Given the description of an element on the screen output the (x, y) to click on. 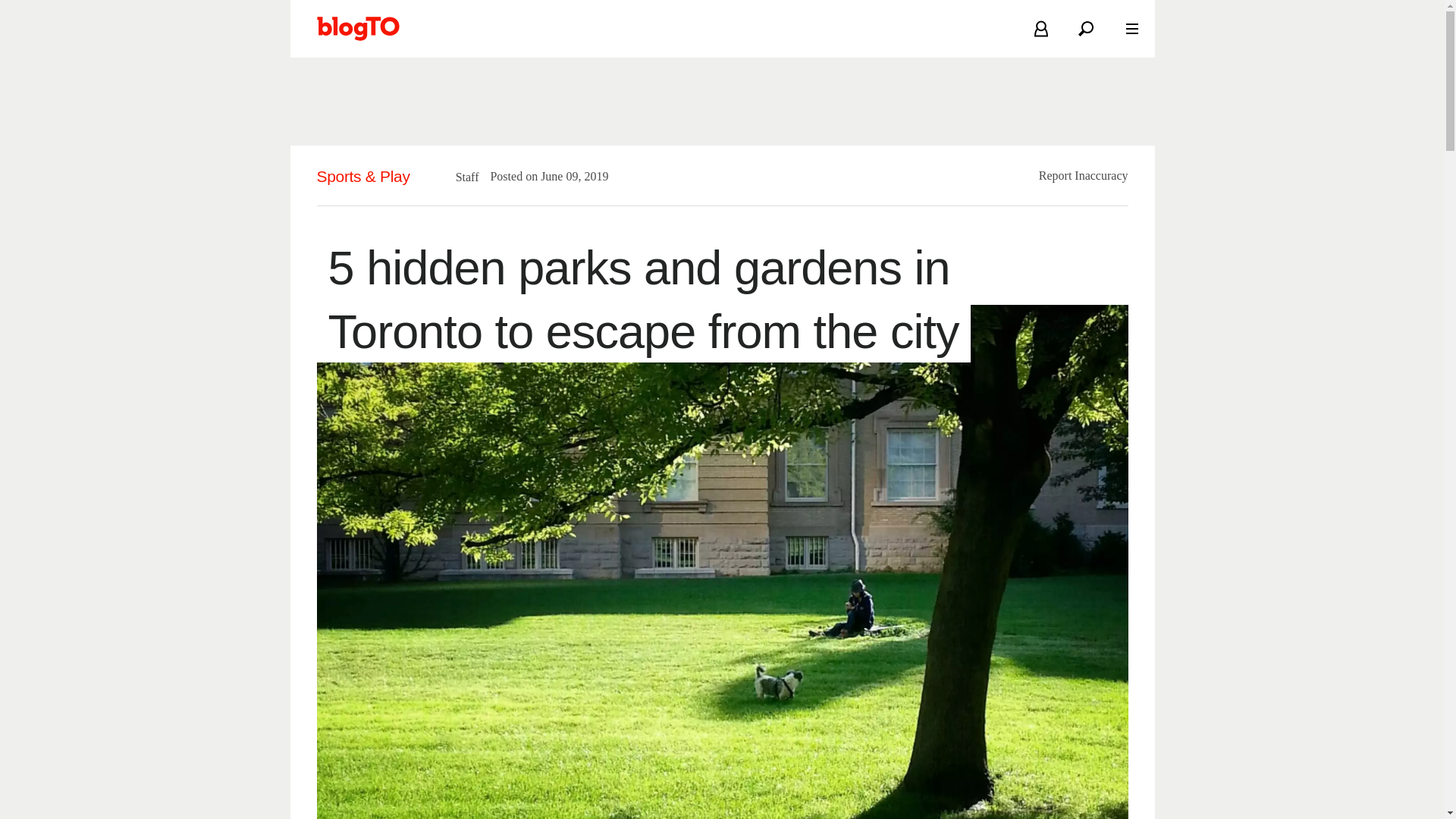
2019-06-09T10:21:43 (566, 175)
